Given the description of an element on the screen output the (x, y) to click on. 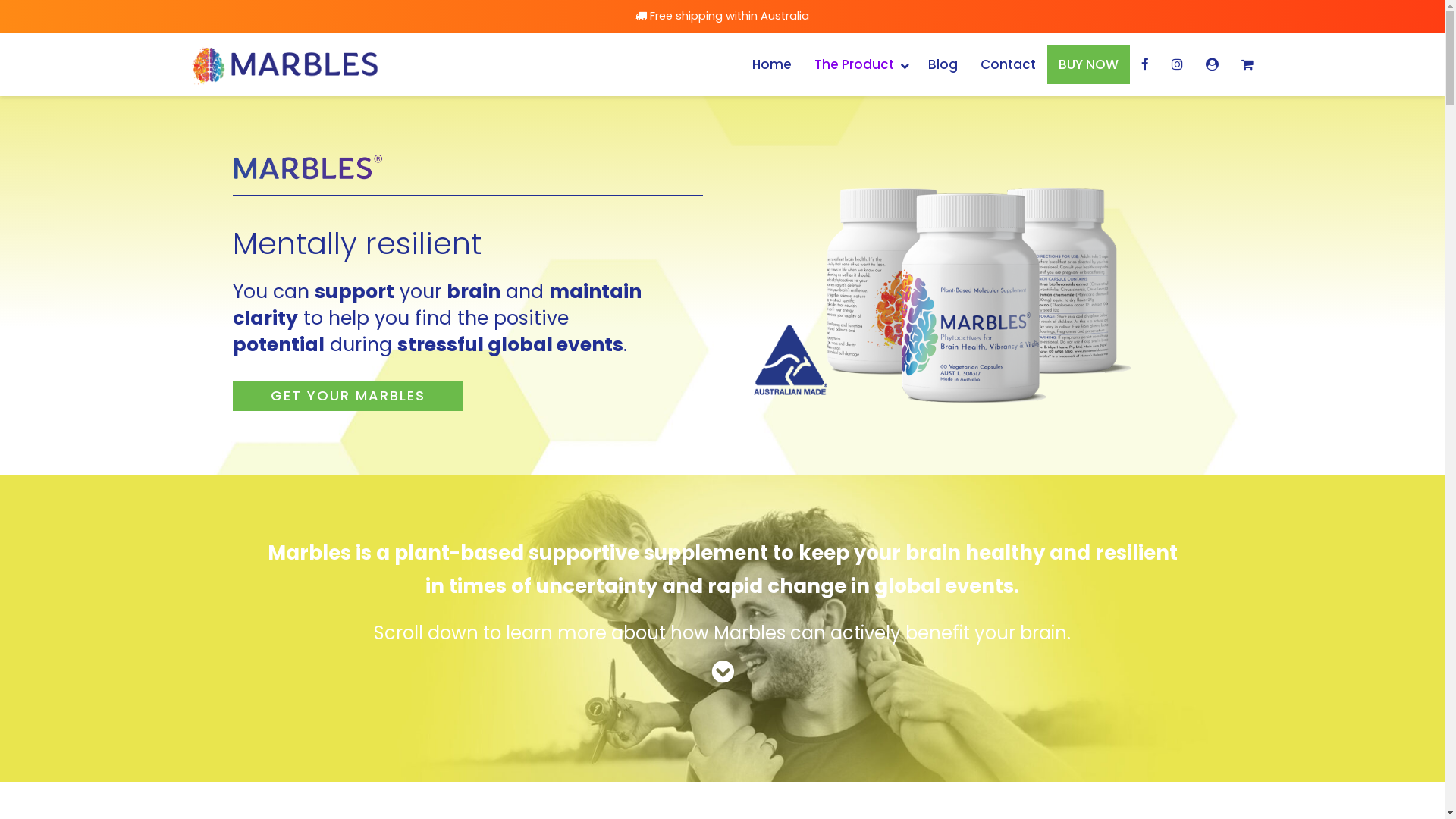
Home Element type: text (771, 64)
BUY NOW Element type: text (1087, 64)
GET YOUR MARBLES Element type: text (347, 395)
The Product Element type: text (859, 64)
Contact Element type: text (1008, 64)
Blog Element type: text (942, 64)
